Given the description of an element on the screen output the (x, y) to click on. 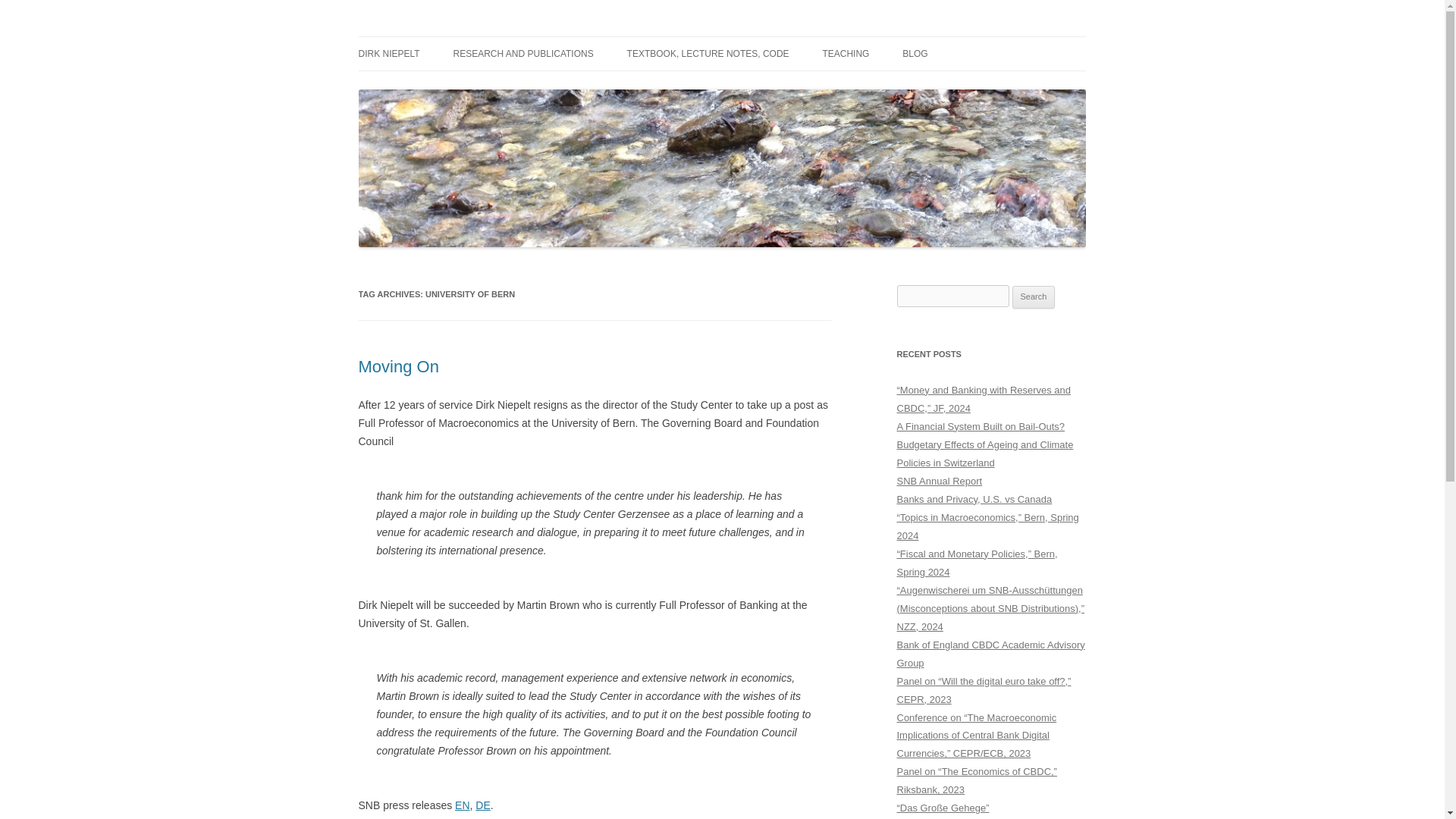
Search (1033, 296)
TEACHING (845, 53)
RESEARCH AND PUBLICATIONS (523, 53)
DIRK NIEPELT (388, 53)
Banks and Privacy, U.S. vs Canada (973, 499)
Moving On (398, 366)
Search (1033, 296)
Dirk Niepelt (412, 36)
RESEARCH (978, 85)
EN (461, 805)
SNB Annual Report (938, 480)
A Financial System Built on Bail-Outs? (980, 426)
Bank of England CBDC Academic Advisory Group (990, 654)
